Given the description of an element on the screen output the (x, y) to click on. 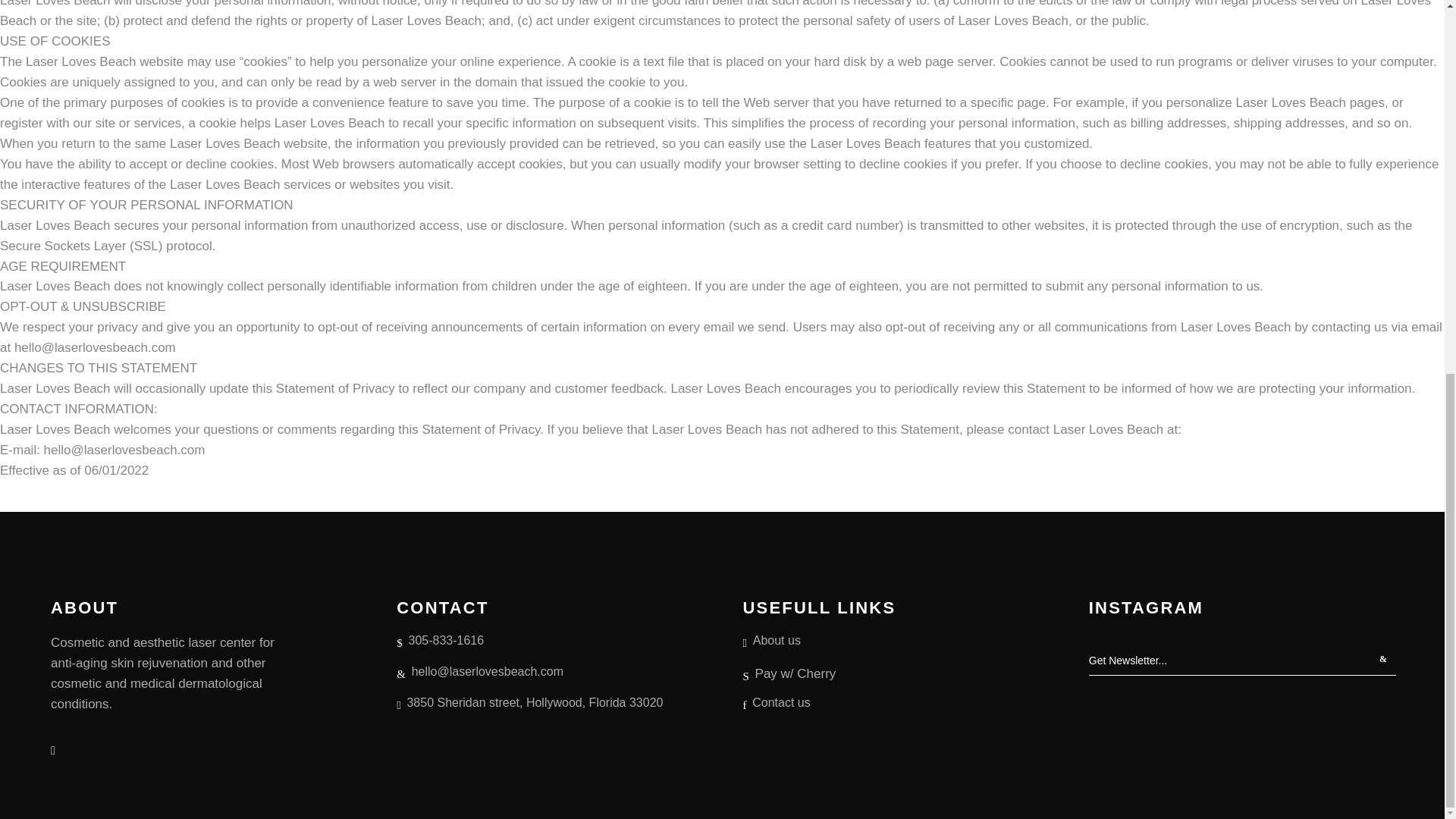
305-833-1616 (439, 640)
Contact us (776, 703)
3850 Sheridan street, Hollywood, Florida 33020 (529, 703)
About us (771, 640)
